Given the description of an element on the screen output the (x, y) to click on. 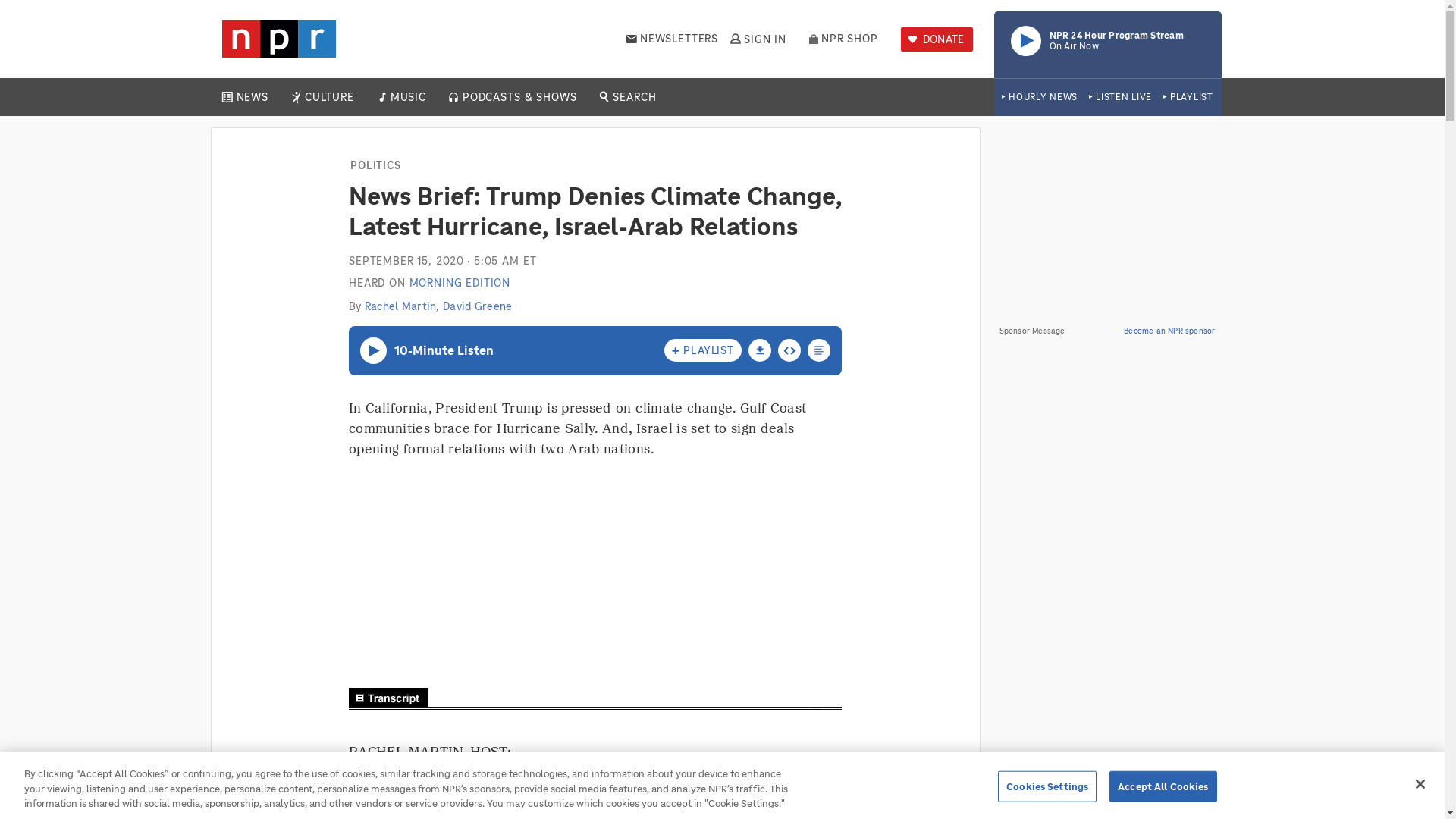
CULTURE (328, 96)
SIGN IN (757, 38)
HOURLY NEWS (1039, 97)
LISTEN LIVE (1120, 97)
NEWSLETTERS (671, 38)
NEWS (1106, 44)
MUSIC (251, 96)
NPR SHOP (407, 96)
PLAYLIST (843, 38)
DONATE (1187, 97)
